Given the description of an element on the screen output the (x, y) to click on. 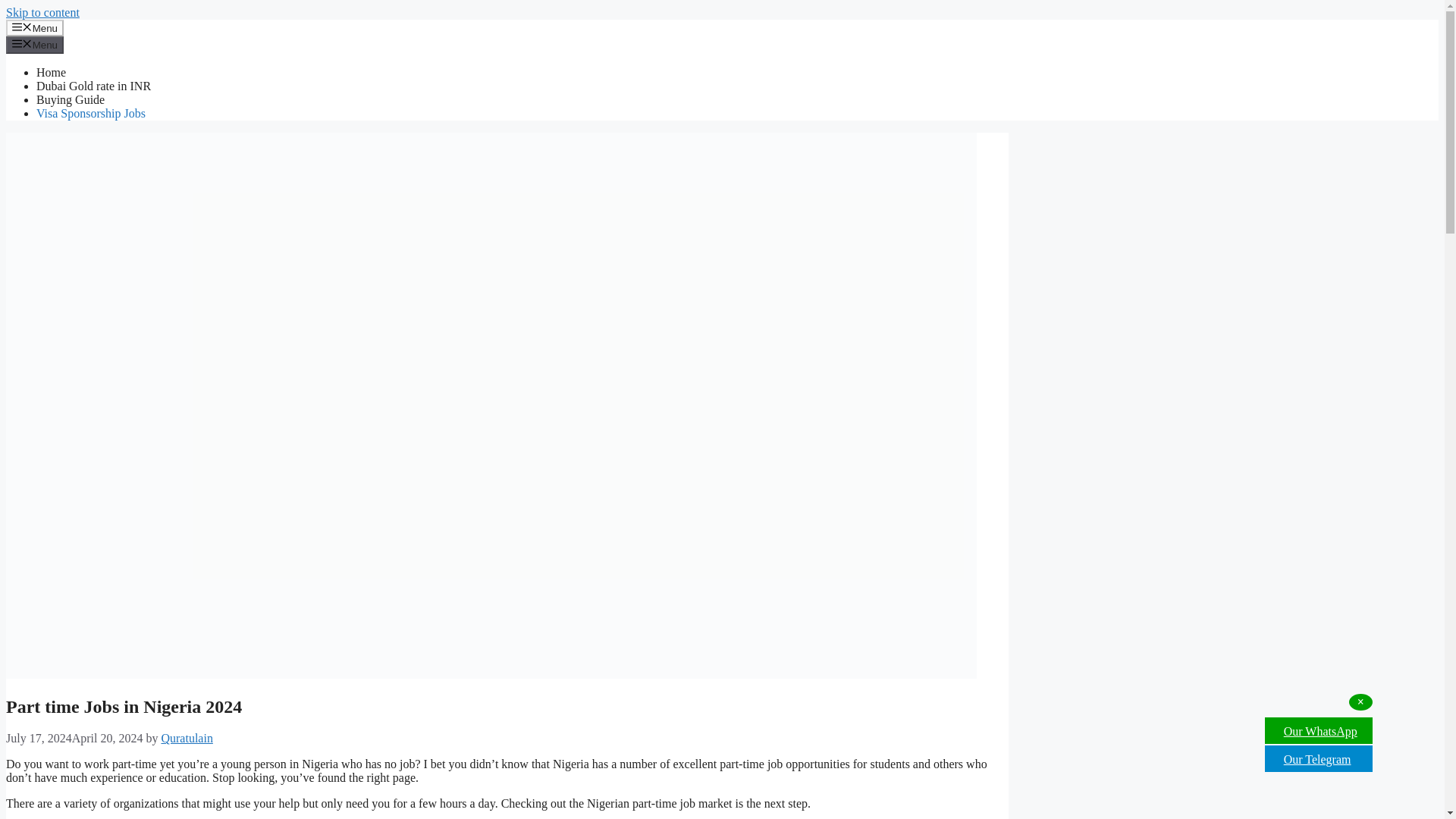
Skip to content (42, 11)
Quratulain (186, 738)
Menu (34, 44)
Visa Sponsorship Jobs (90, 113)
Buying Guide (70, 99)
Home (50, 72)
Dubai Gold rate in INR (93, 85)
Menu (34, 27)
Skip to content (42, 11)
View all posts by Quratulain (186, 738)
